Given the description of an element on the screen output the (x, y) to click on. 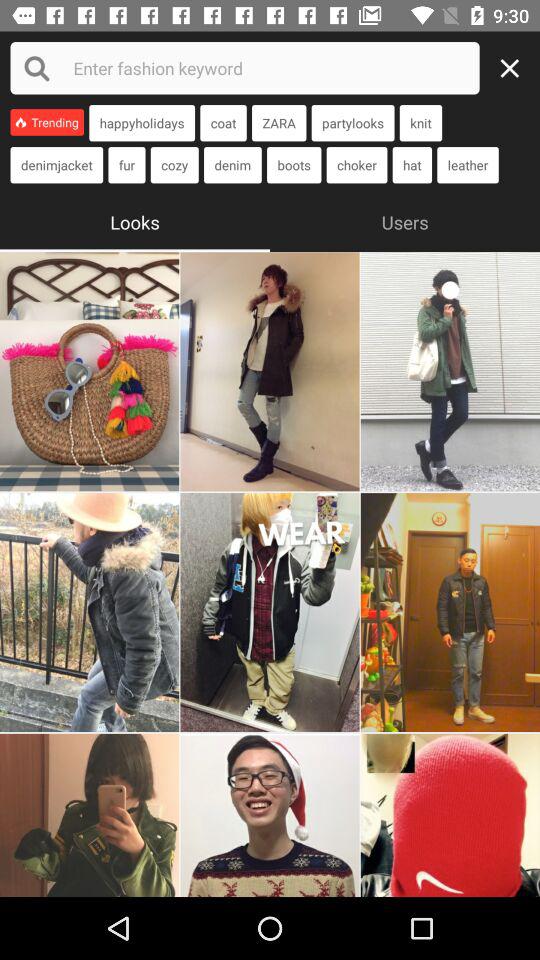
toggle emojios option (269, 815)
